Given the description of an element on the screen output the (x, y) to click on. 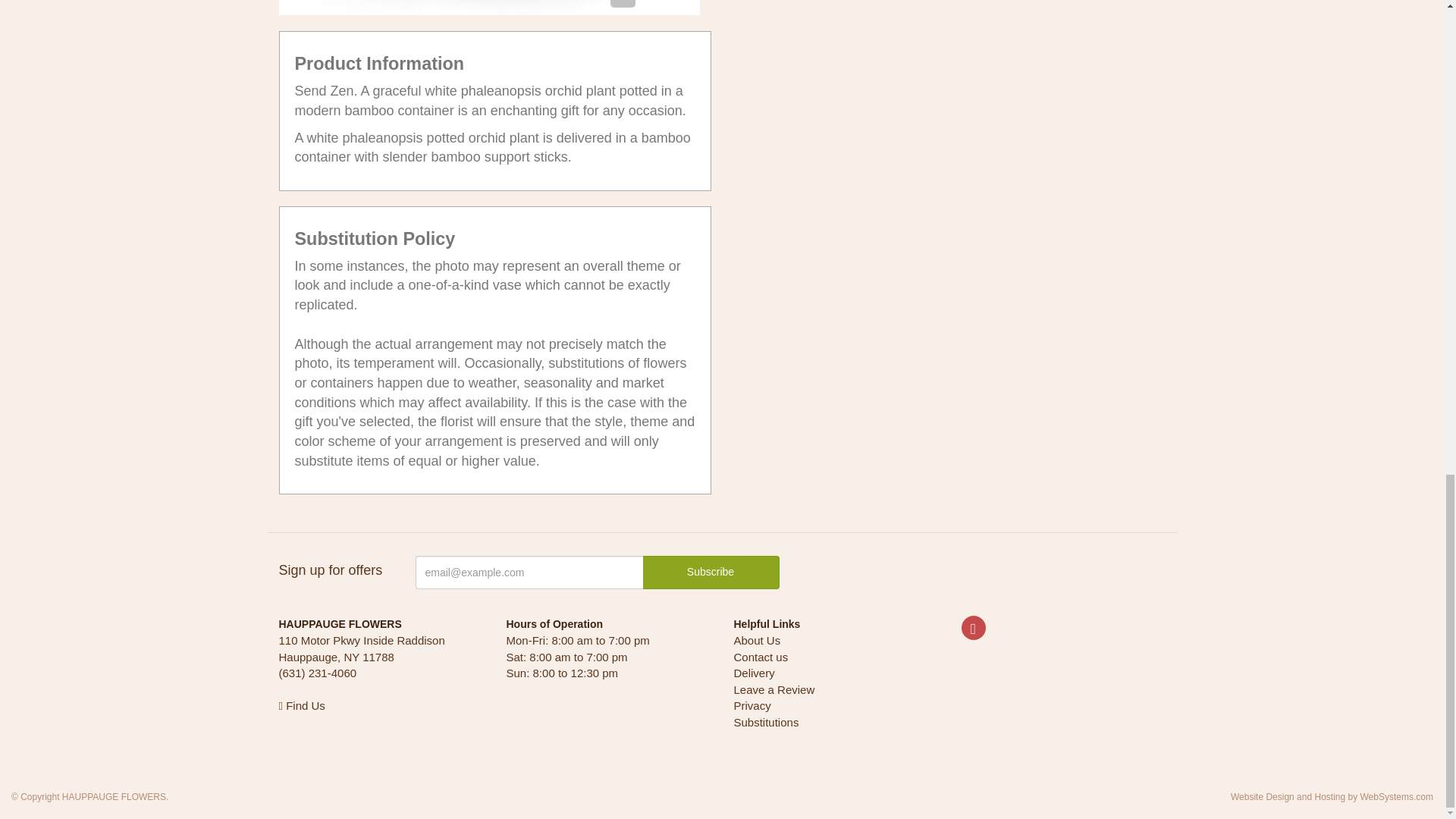
Find Us (301, 705)
Subscribe (710, 572)
Subscribe (710, 572)
